Given the description of an element on the screen output the (x, y) to click on. 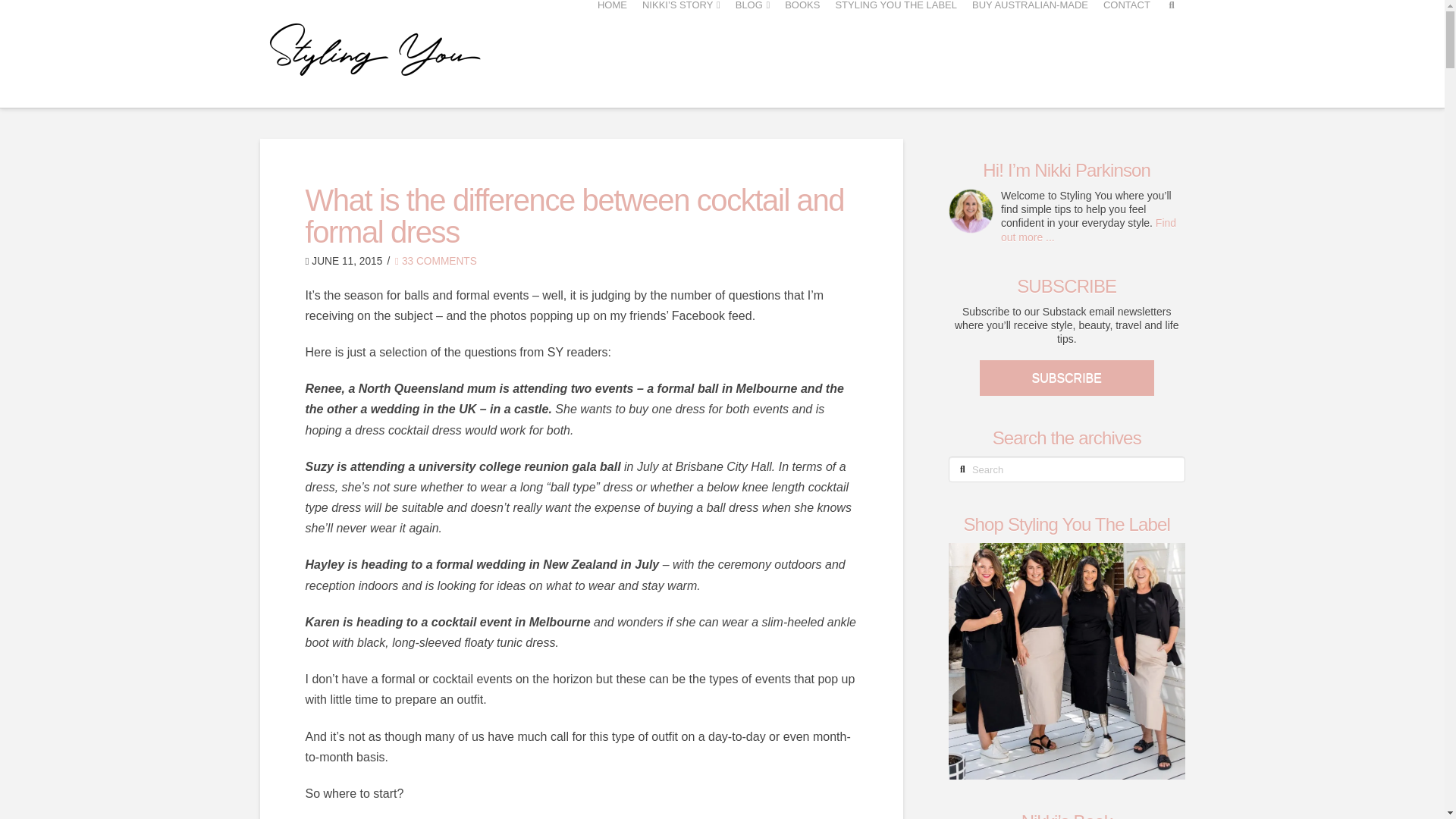
HOME (611, 49)
33 COMMENTS (435, 260)
BUY AUSTRALIAN-MADE (1029, 49)
BOOKS (802, 49)
STYLING YOU THE LABEL (895, 49)
CONTACT (1126, 49)
BLOG (752, 49)
